Given the description of an element on the screen output the (x, y) to click on. 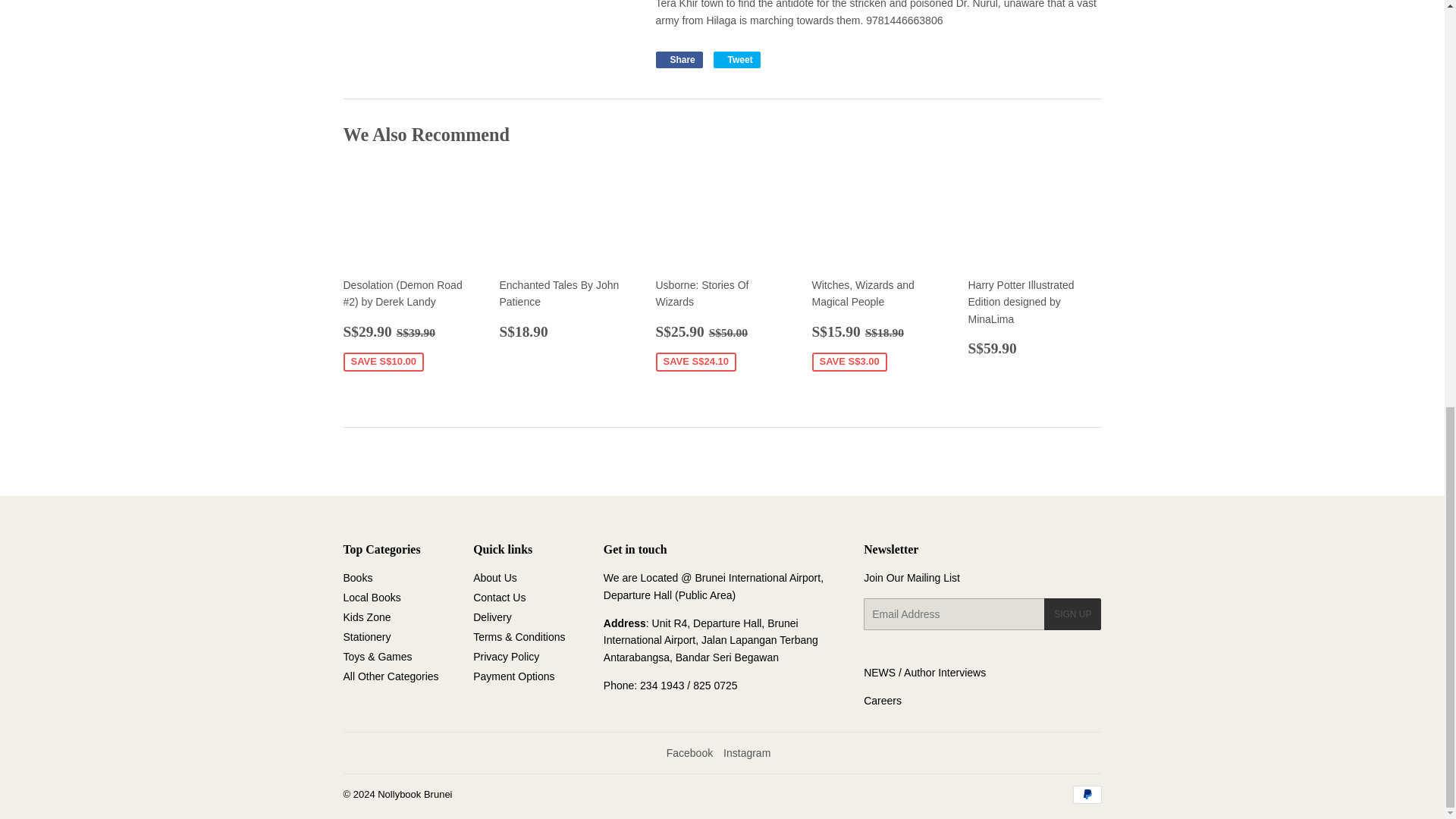
Nollybook Brunei on Instagram (746, 752)
Author Interviews (944, 672)
News (879, 672)
Tweet on Twitter (736, 59)
Nollybook Brunei on Facebook (689, 752)
PayPal (1085, 794)
Share on Facebook (678, 59)
